Given the description of an element on the screen output the (x, y) to click on. 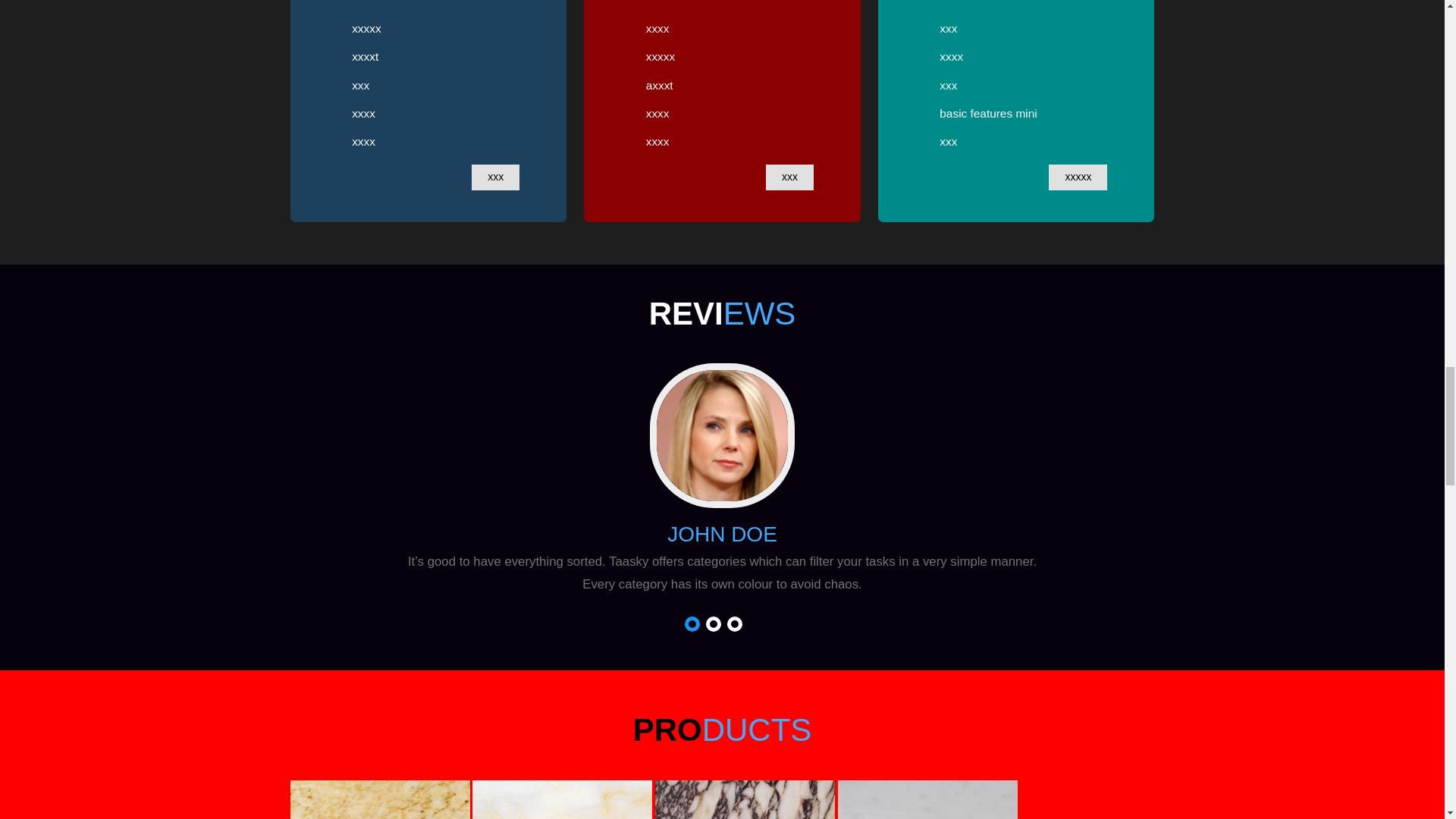
xxx (789, 177)
xxx (495, 177)
xxxxx (1077, 177)
